Given the description of an element on the screen output the (x, y) to click on. 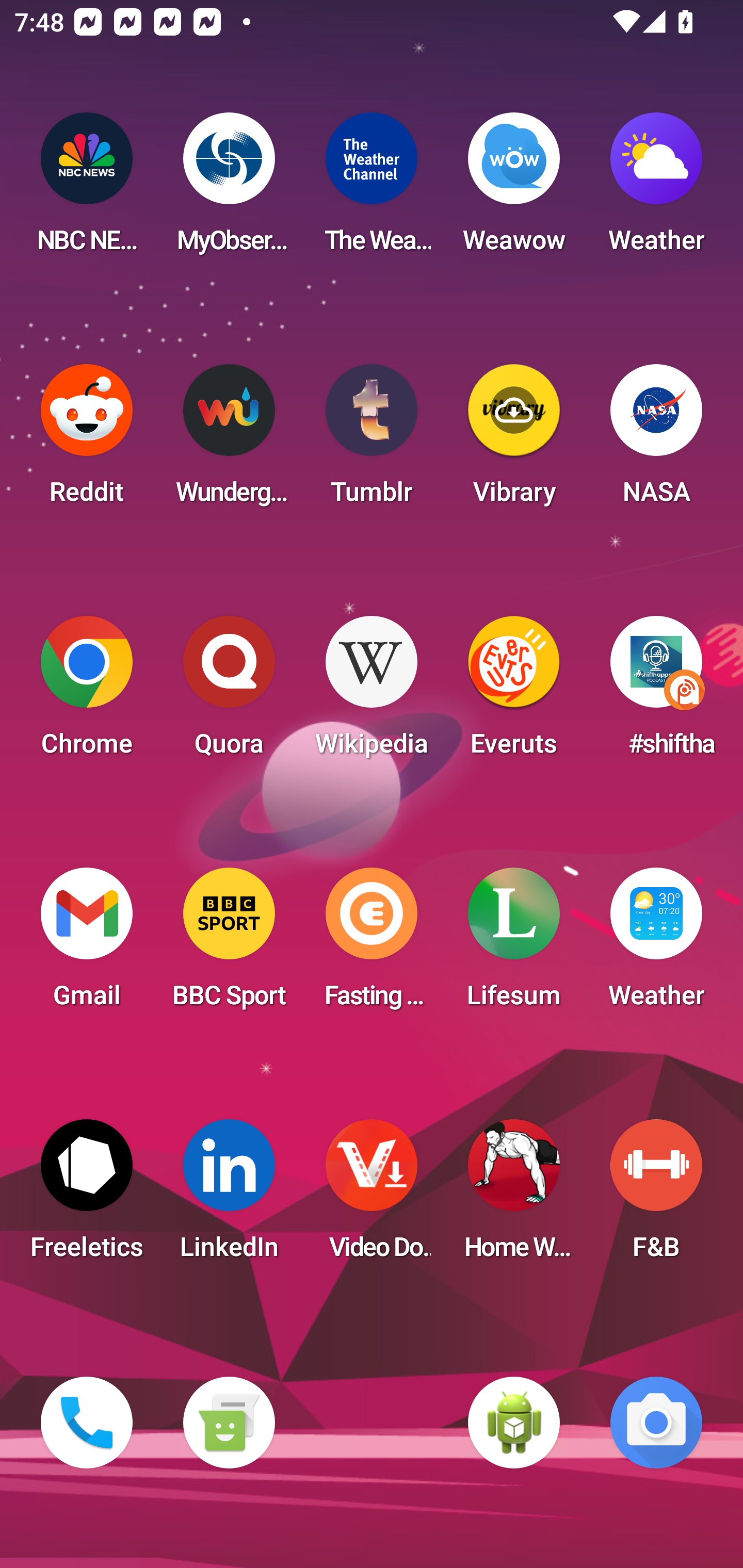
NBC NEWS (86, 188)
MyObservatory (228, 188)
The Weather Channel (371, 188)
Weawow (513, 188)
Weather (656, 188)
Reddit (86, 440)
Wunderground (228, 440)
Tumblr (371, 440)
Vibrary (513, 440)
NASA (656, 440)
Chrome (86, 692)
Quora (228, 692)
Wikipedia (371, 692)
Everuts (513, 692)
#shifthappens in the Digital Workplace Podcast (656, 692)
Gmail (86, 943)
BBC Sport (228, 943)
Fasting Coach (371, 943)
Lifesum (513, 943)
Weather (656, 943)
Freeletics (86, 1195)
LinkedIn (228, 1195)
Video Downloader & Ace Player (371, 1195)
Home Workout (513, 1195)
F&B (656, 1195)
Phone (86, 1422)
Messaging (228, 1422)
WebView Browser Tester (513, 1422)
Camera (656, 1422)
